Given the description of an element on the screen output the (x, y) to click on. 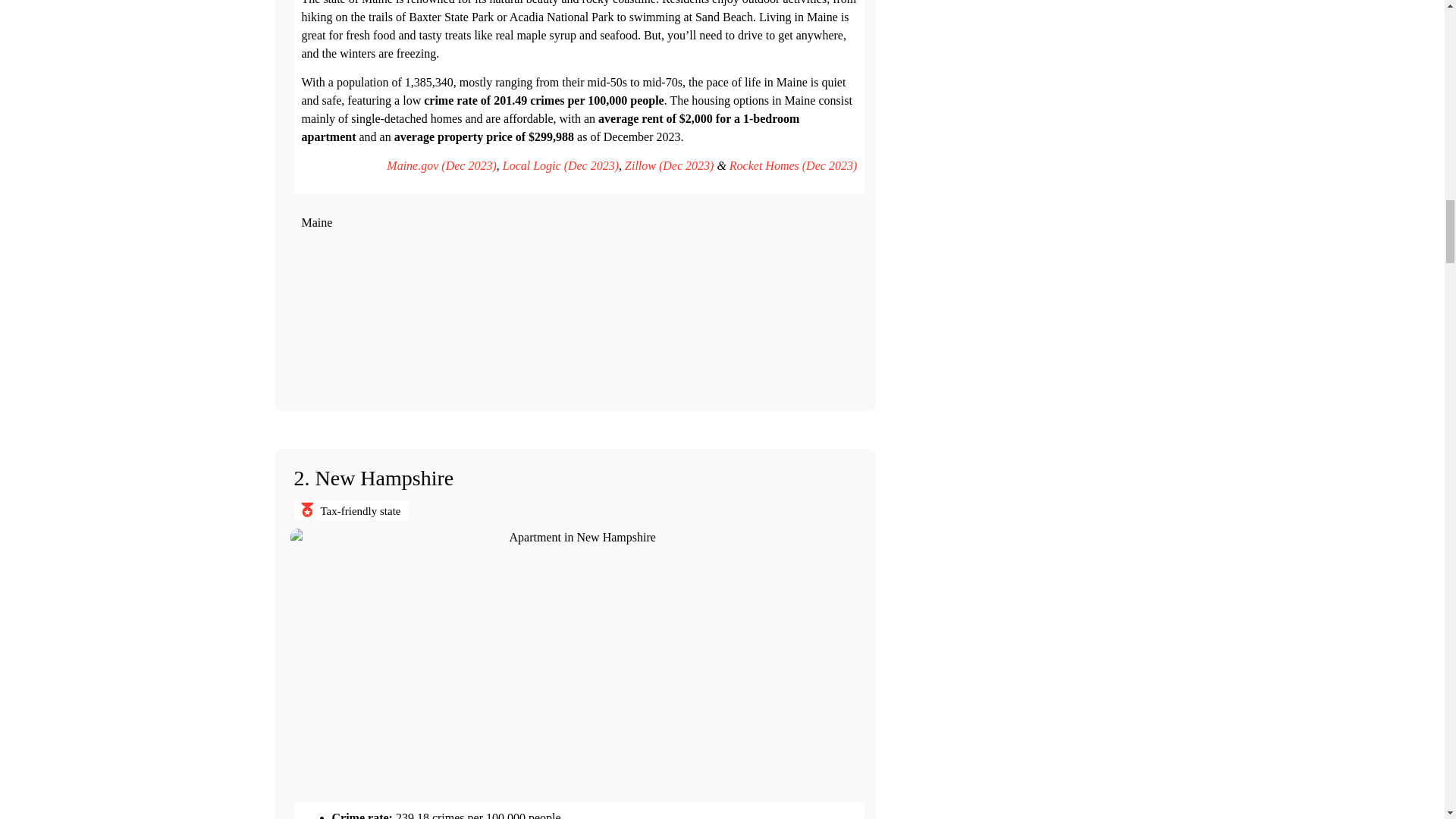
Maine (579, 314)
